Given the description of an element on the screen output the (x, y) to click on. 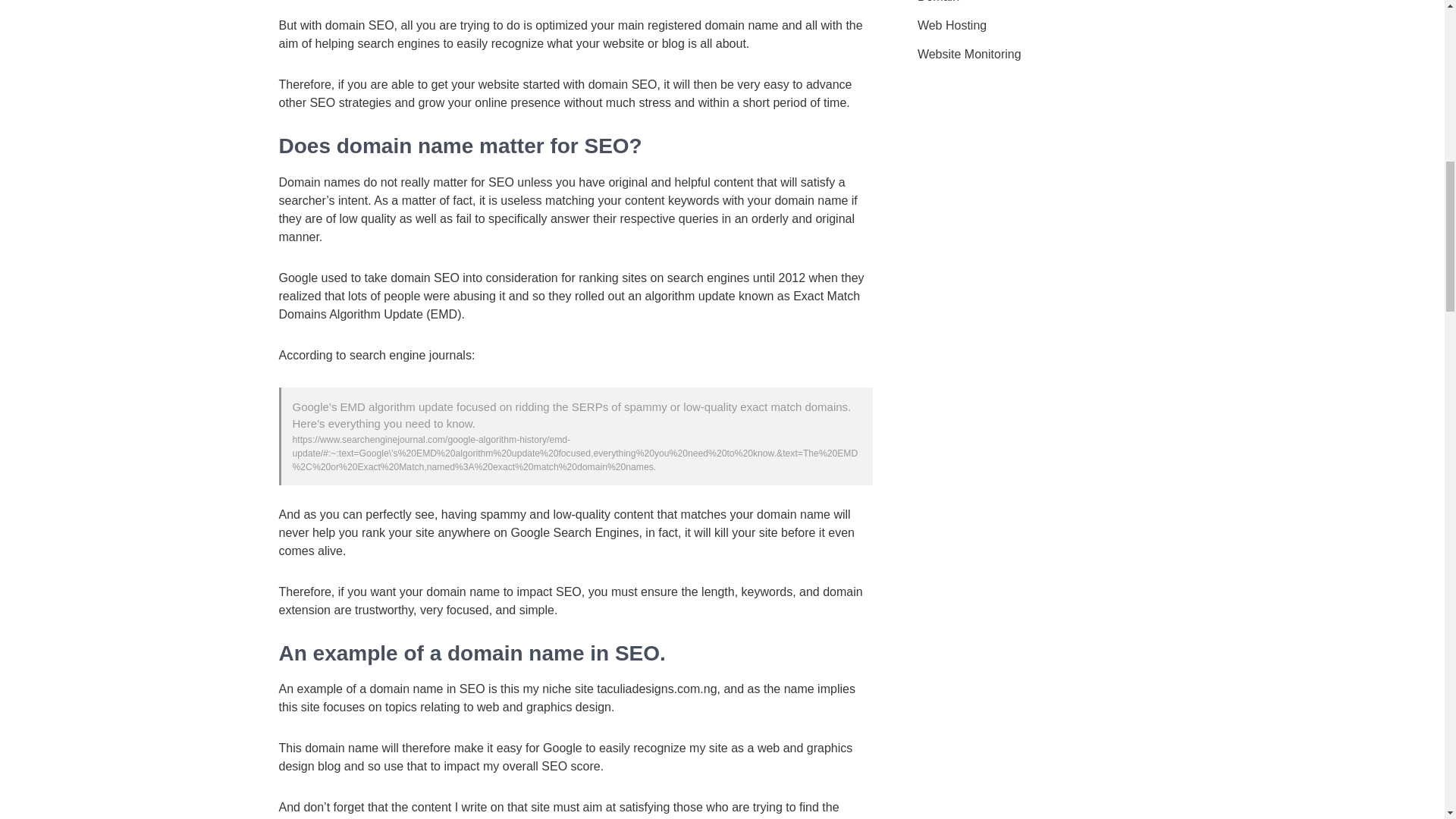
Website Monitoring (969, 54)
Web Hosting (952, 25)
Domain (938, 2)
